Given the description of an element on the screen output the (x, y) to click on. 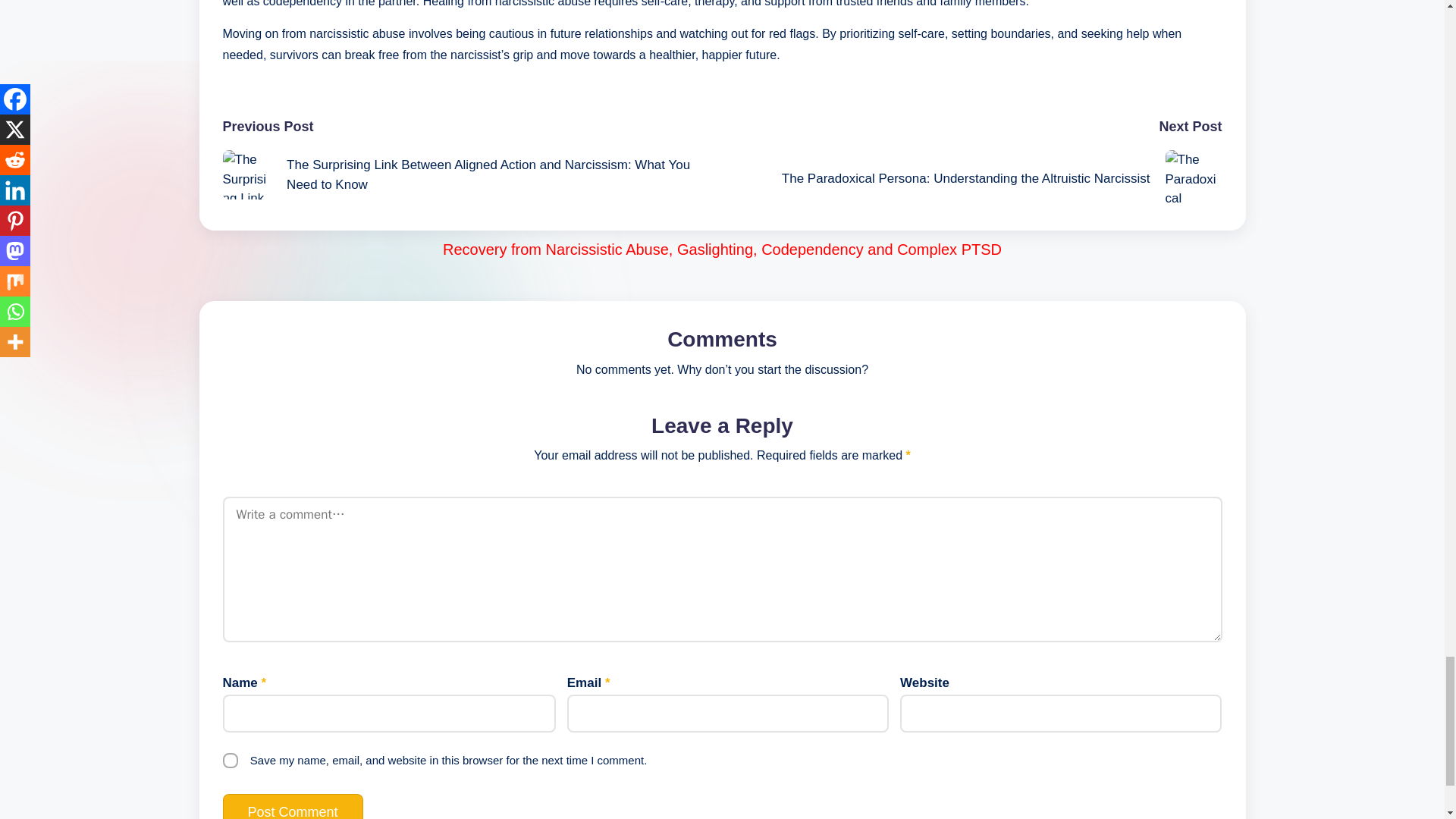
yes (230, 760)
Post Comment (292, 806)
